Given the description of an element on the screen output the (x, y) to click on. 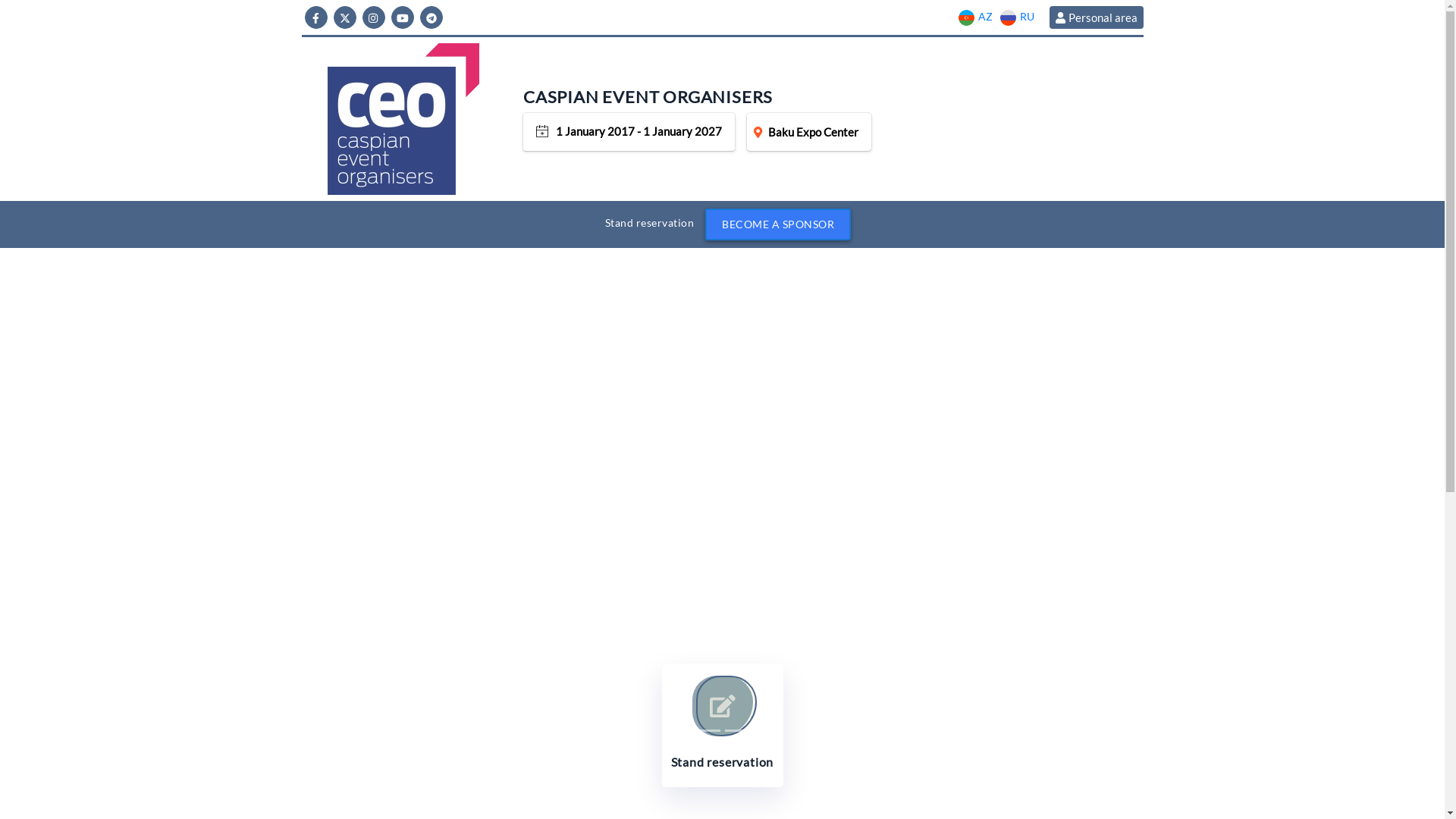
Personal area Element type: text (1095, 17)
RU Element type: text (1016, 16)
AZ Element type: text (974, 16)
Baku Expo Center Element type: text (808, 131)
Stand reservation Element type: text (721, 725)
Stand reservation Element type: text (649, 222)
BECOME A SPONSOR Element type: text (777, 224)
